Given the description of an element on the screen output the (x, y) to click on. 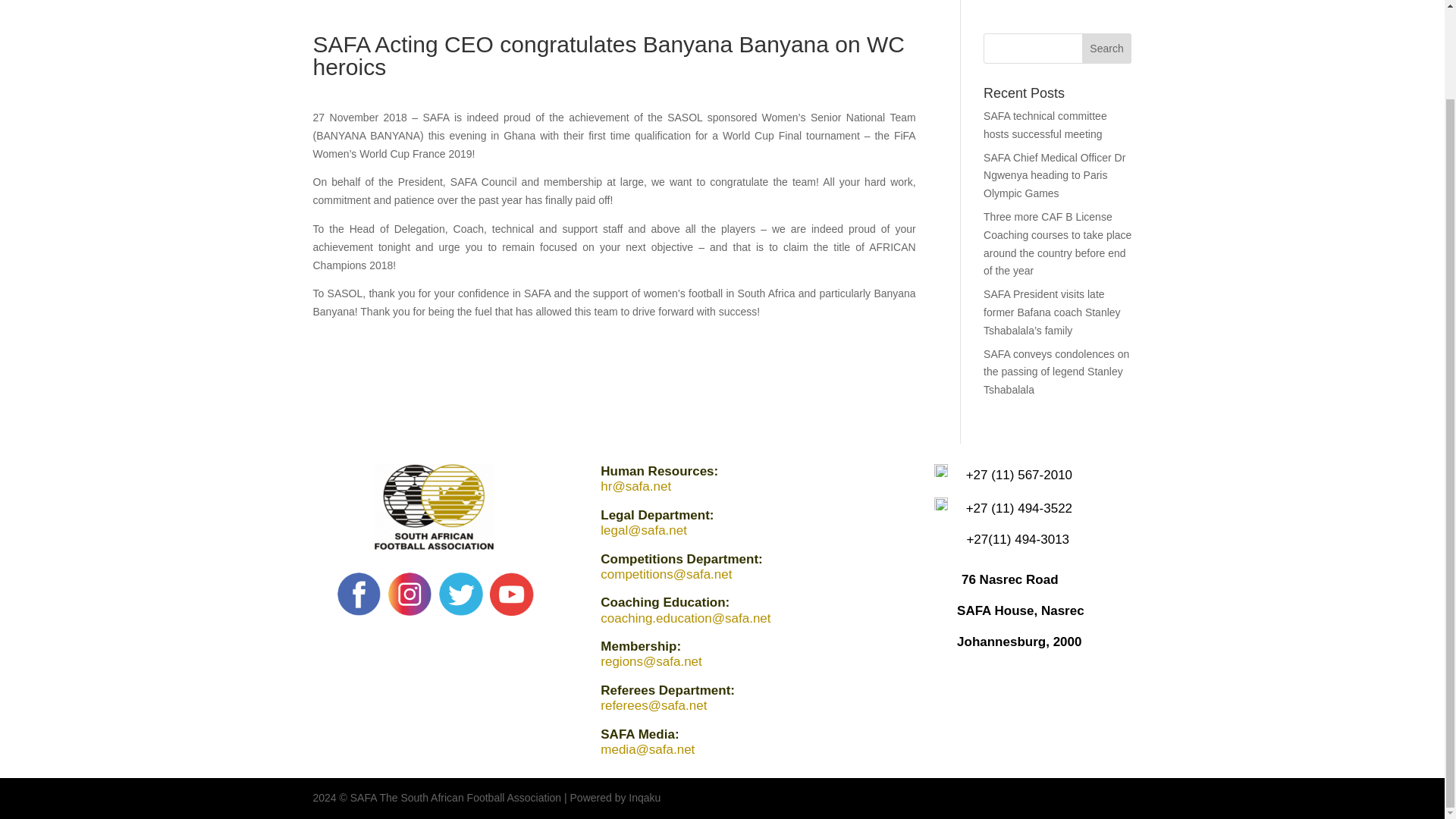
SAFA House, Nasrec (1020, 610)
Search (1106, 48)
SAFA technical committee hosts successful meeting (1045, 124)
Johannesburg, 2000 (1018, 641)
Search (1106, 48)
76 Nasrec Road (1009, 579)
